Given the description of an element on the screen output the (x, y) to click on. 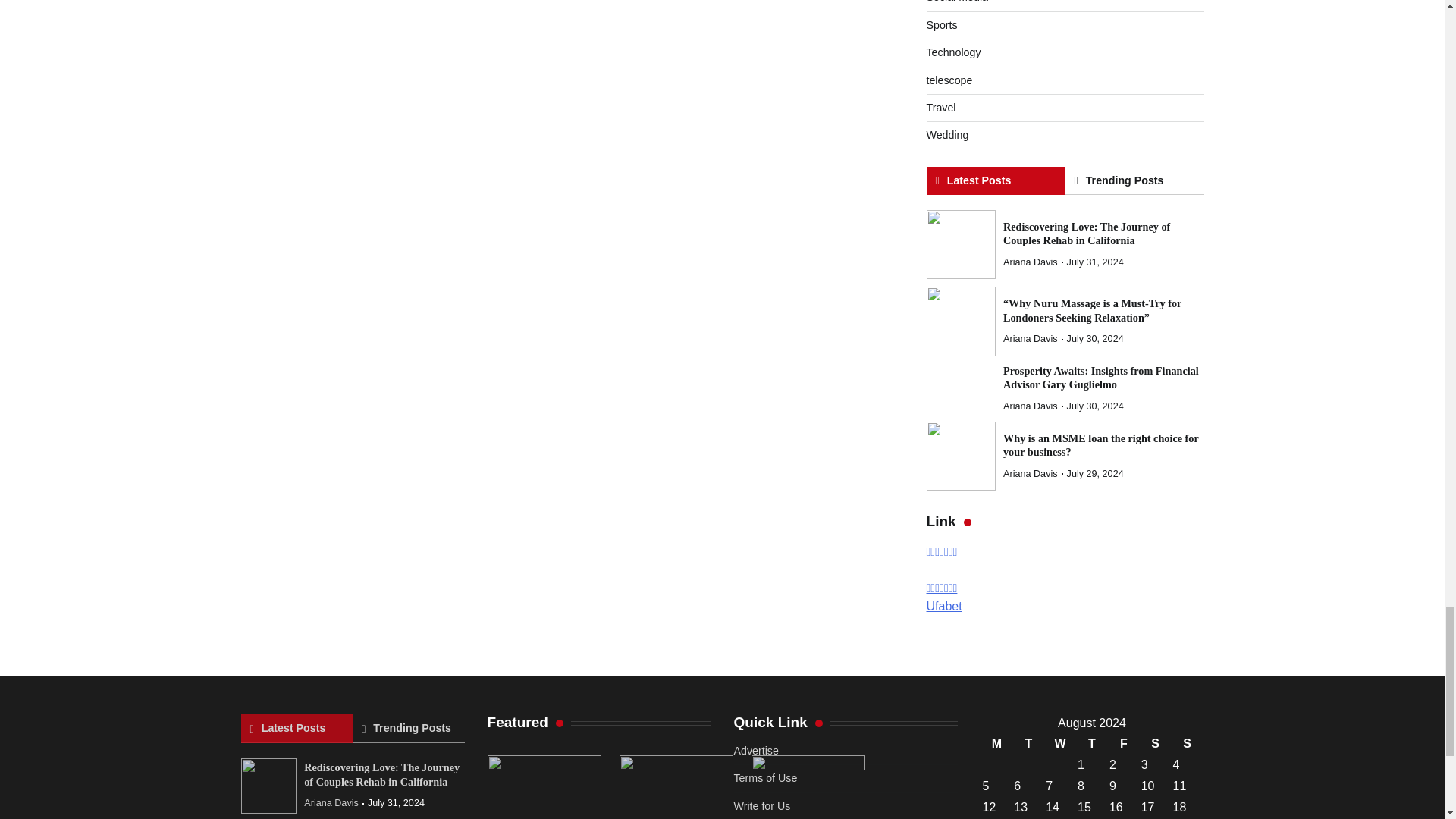
Wednesday (1060, 743)
Thursday (1091, 743)
Sunday (1187, 743)
Monday (996, 743)
Tuesday (1028, 743)
Friday (1123, 743)
Saturday (1155, 743)
